Given the description of an element on the screen output the (x, y) to click on. 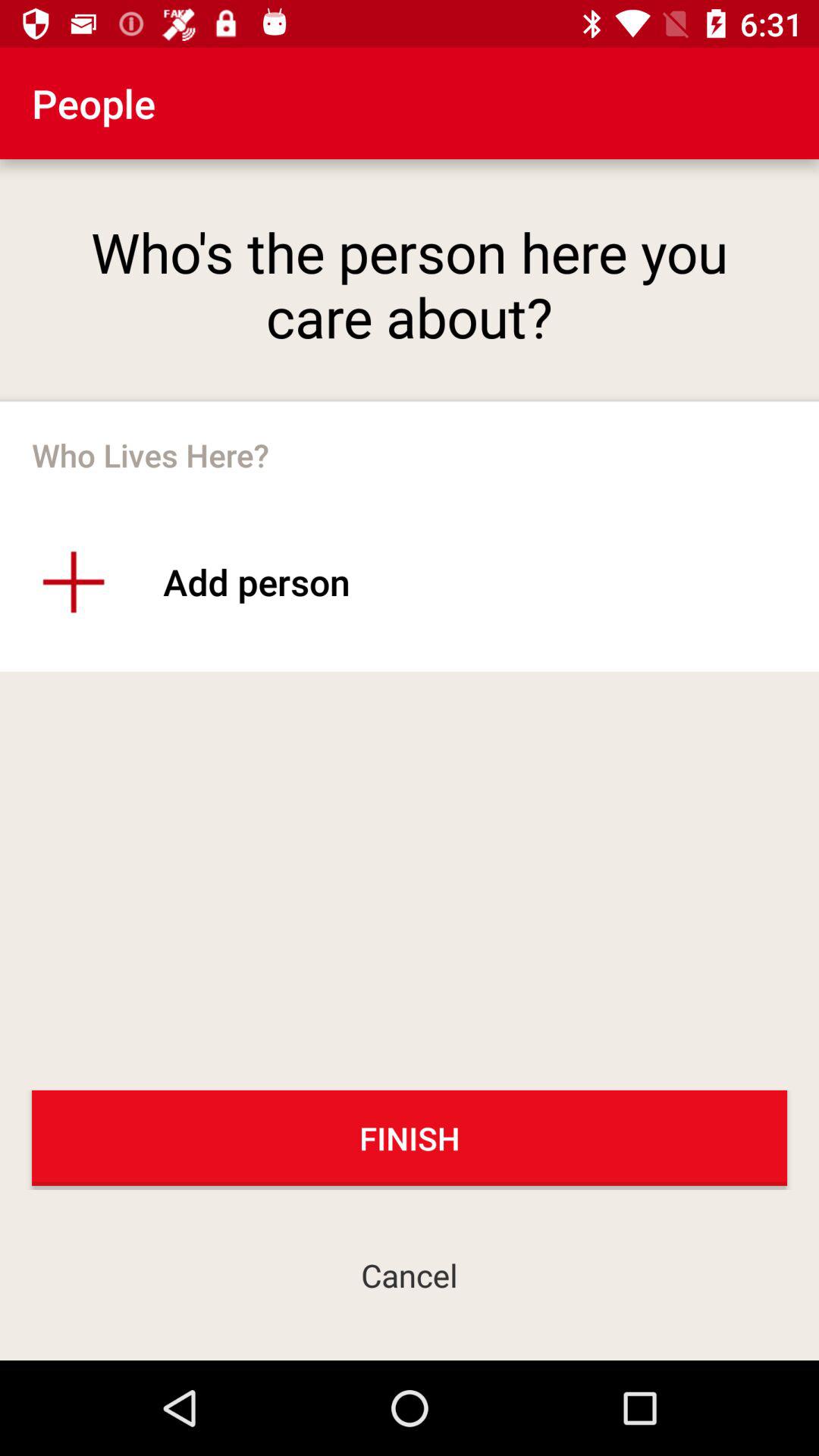
press the icon below the finish item (409, 1274)
